Given the description of an element on the screen output the (x, y) to click on. 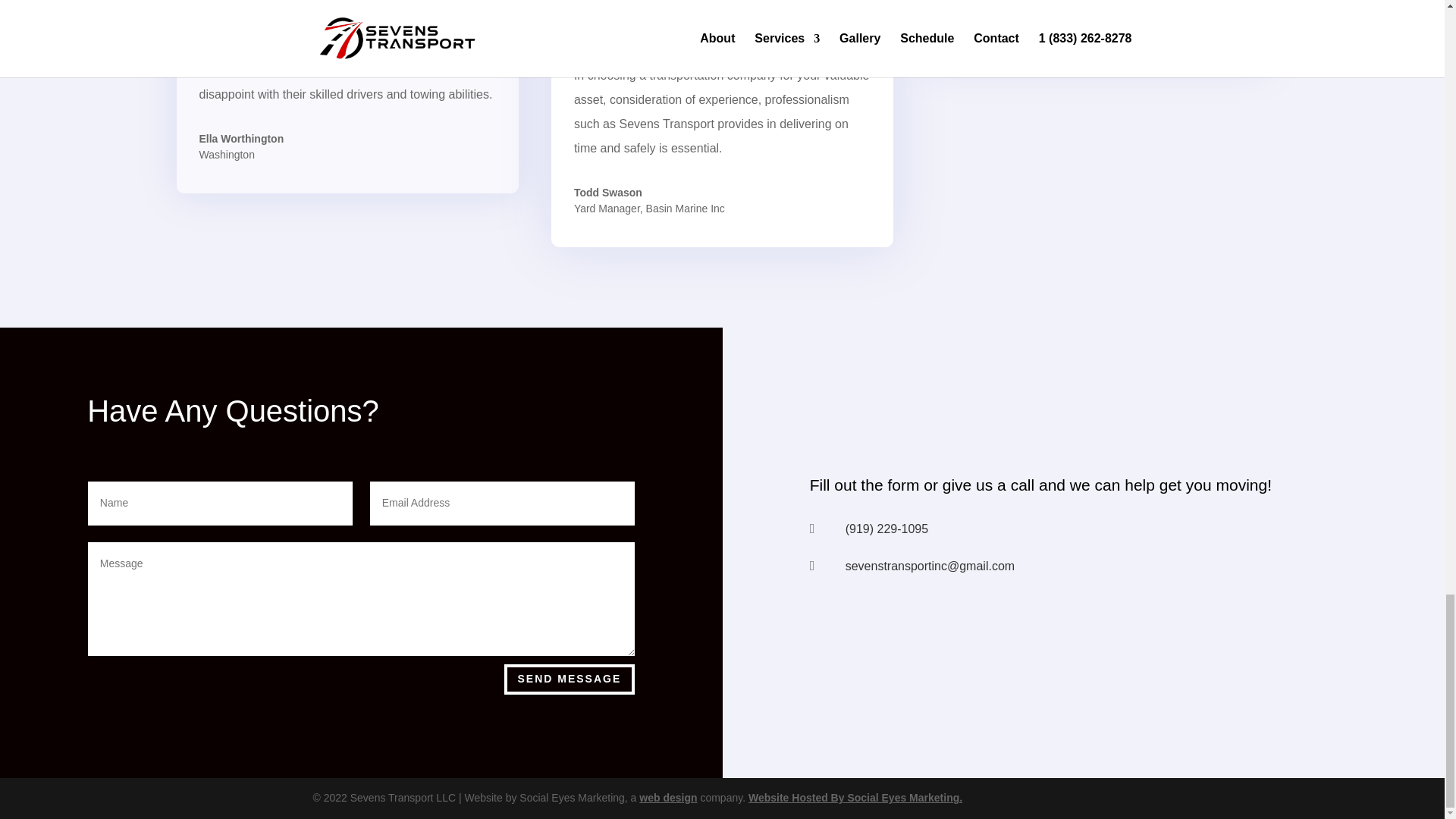
web design (668, 797)
SEND MESSAGE (568, 679)
Website Hosted By Social Eyes Marketing. (855, 797)
